Given the description of an element on the screen output the (x, y) to click on. 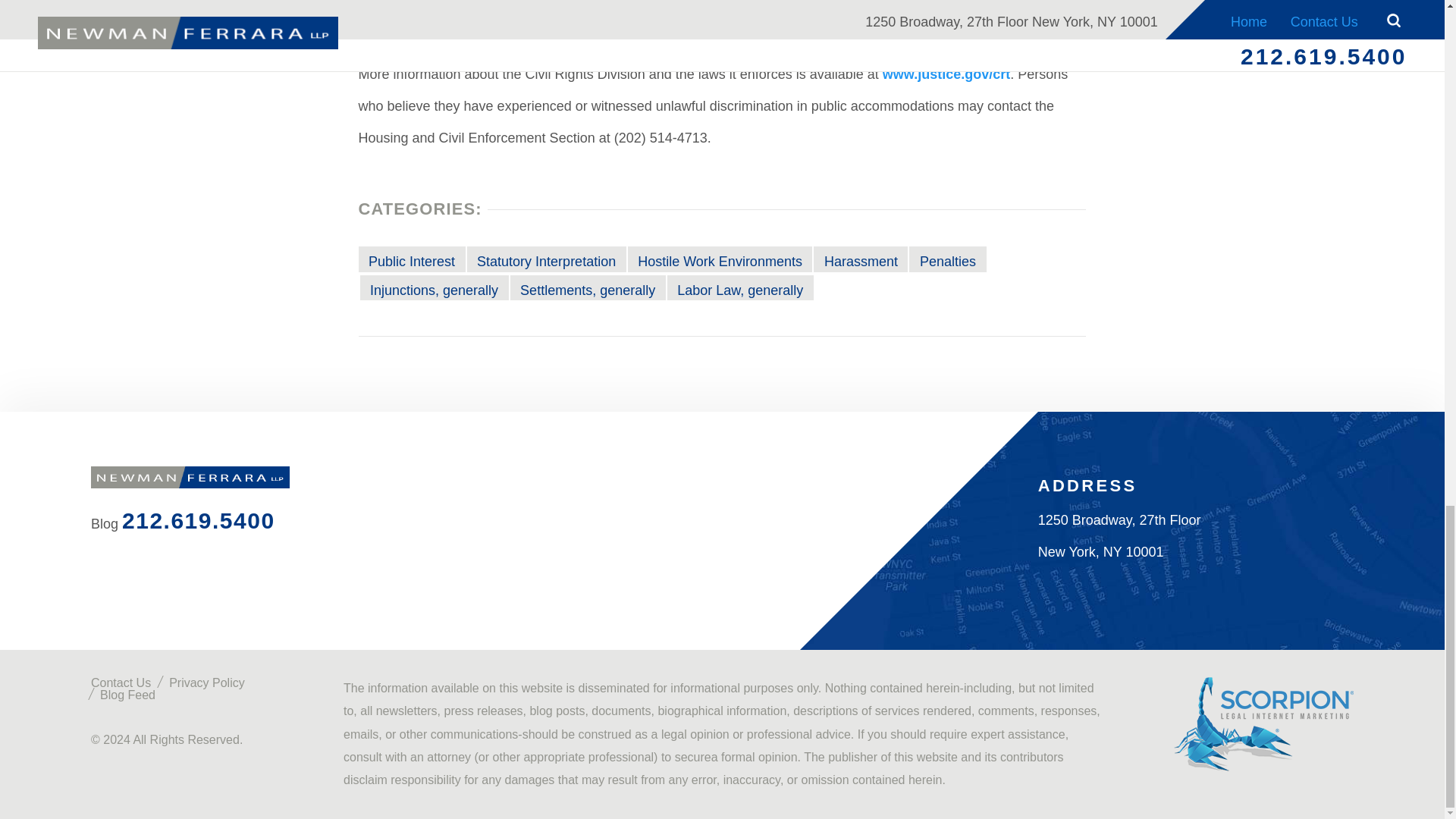
Penalties (946, 258)
Injunctions, generally (433, 287)
Public Interest (411, 258)
Statutory Interpretation (546, 258)
Labor Law, generally (739, 287)
212.619.5400 (198, 520)
Hostile Work Environments (719, 258)
Harassment (860, 258)
Internet Marketing Experts (1263, 724)
Settlements, generally (588, 287)
